Given the description of an element on the screen output the (x, y) to click on. 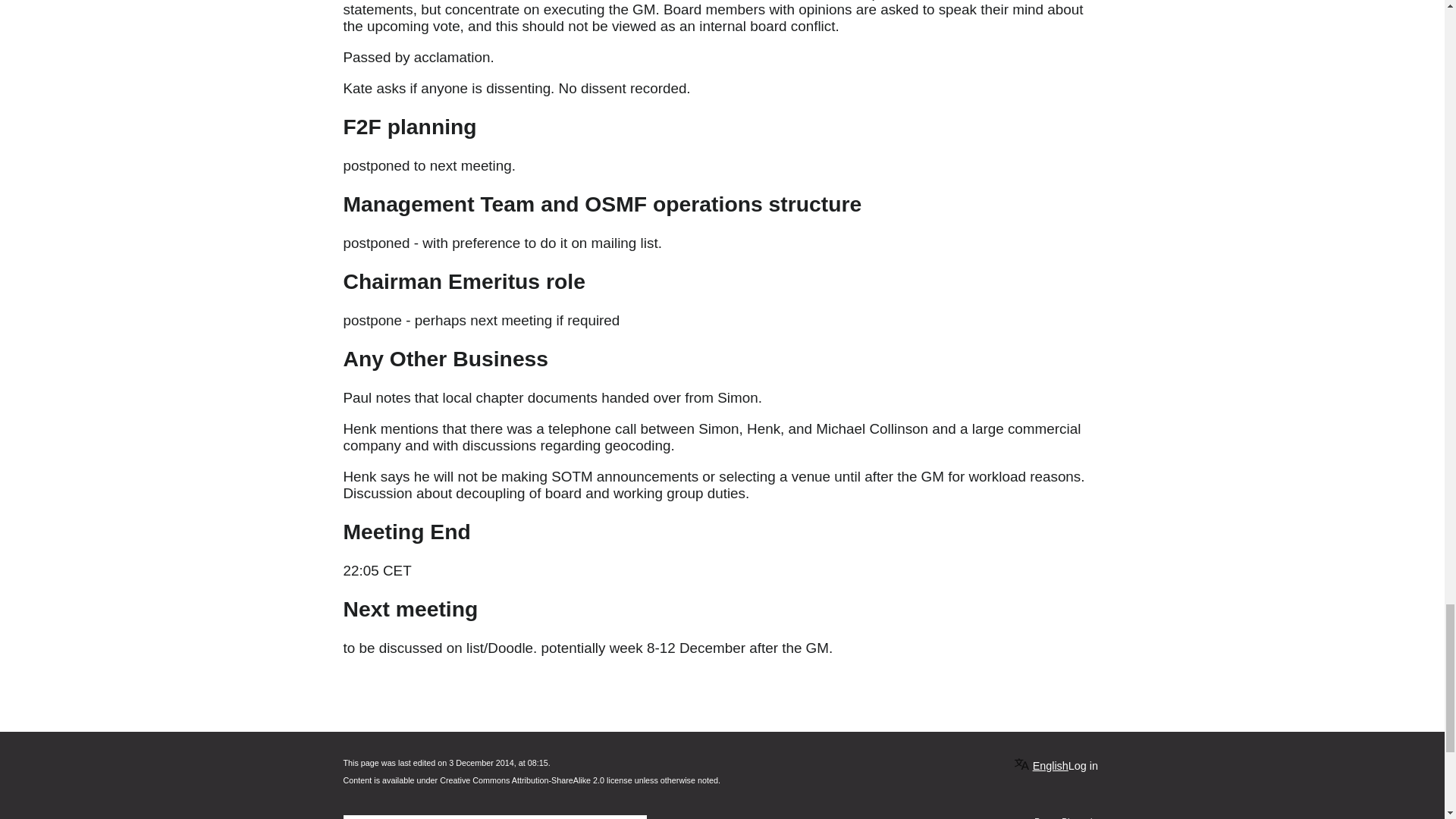
Search (635, 817)
Go (633, 817)
Go (633, 817)
Search the pages for this text (635, 817)
Go to a page with this exact name if it exists (633, 817)
Wiki content license (535, 779)
Search (635, 817)
